Given the description of an element on the screen output the (x, y) to click on. 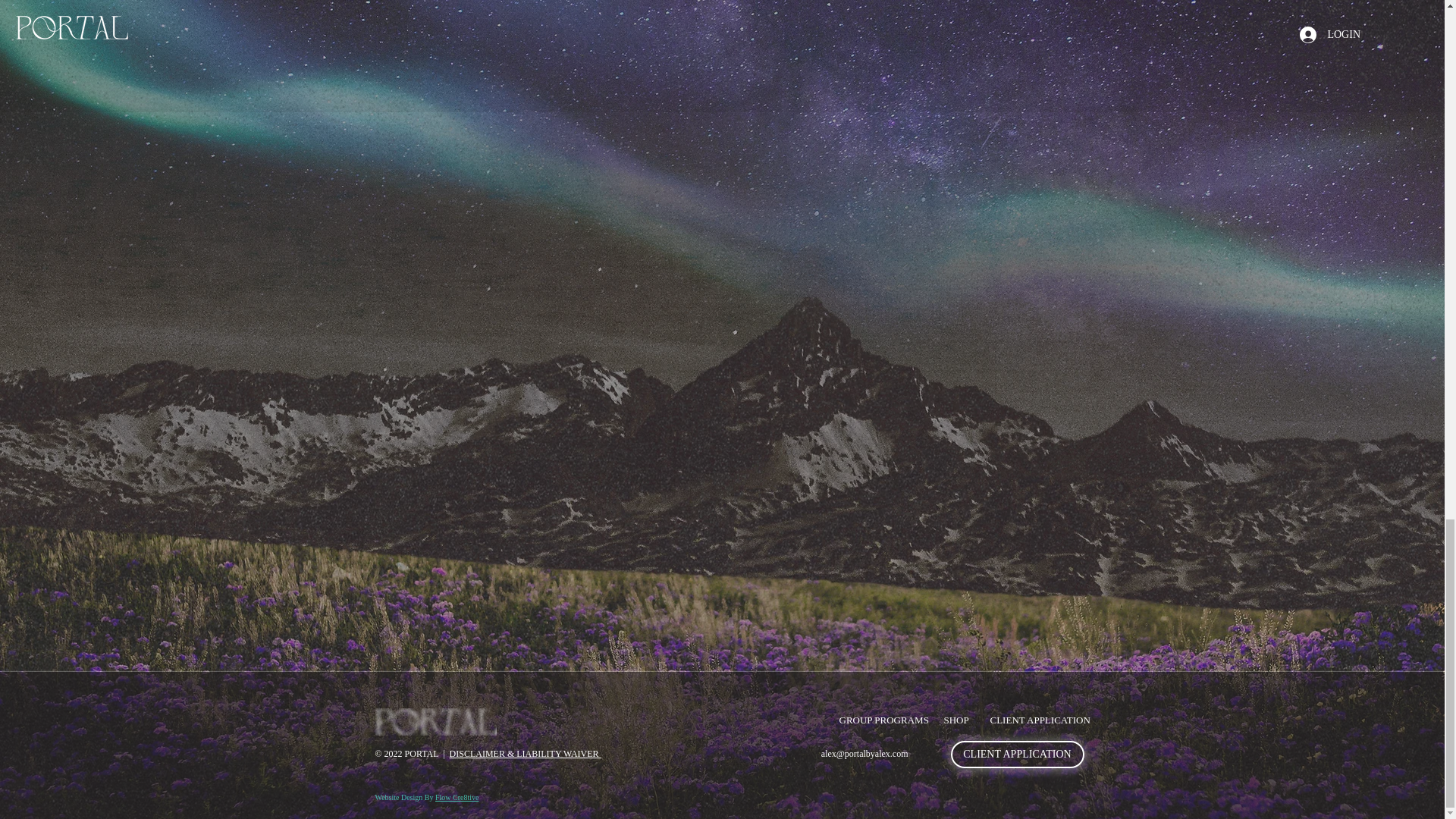
Primary Logo - White.png (435, 721)
CLIENT APPLICATION (1017, 754)
SHOP (955, 720)
Flow Cre8tive (457, 797)
CLIENT APPLICATION (1034, 720)
GROUP PROGRAMS (880, 720)
